Given the description of an element on the screen output the (x, y) to click on. 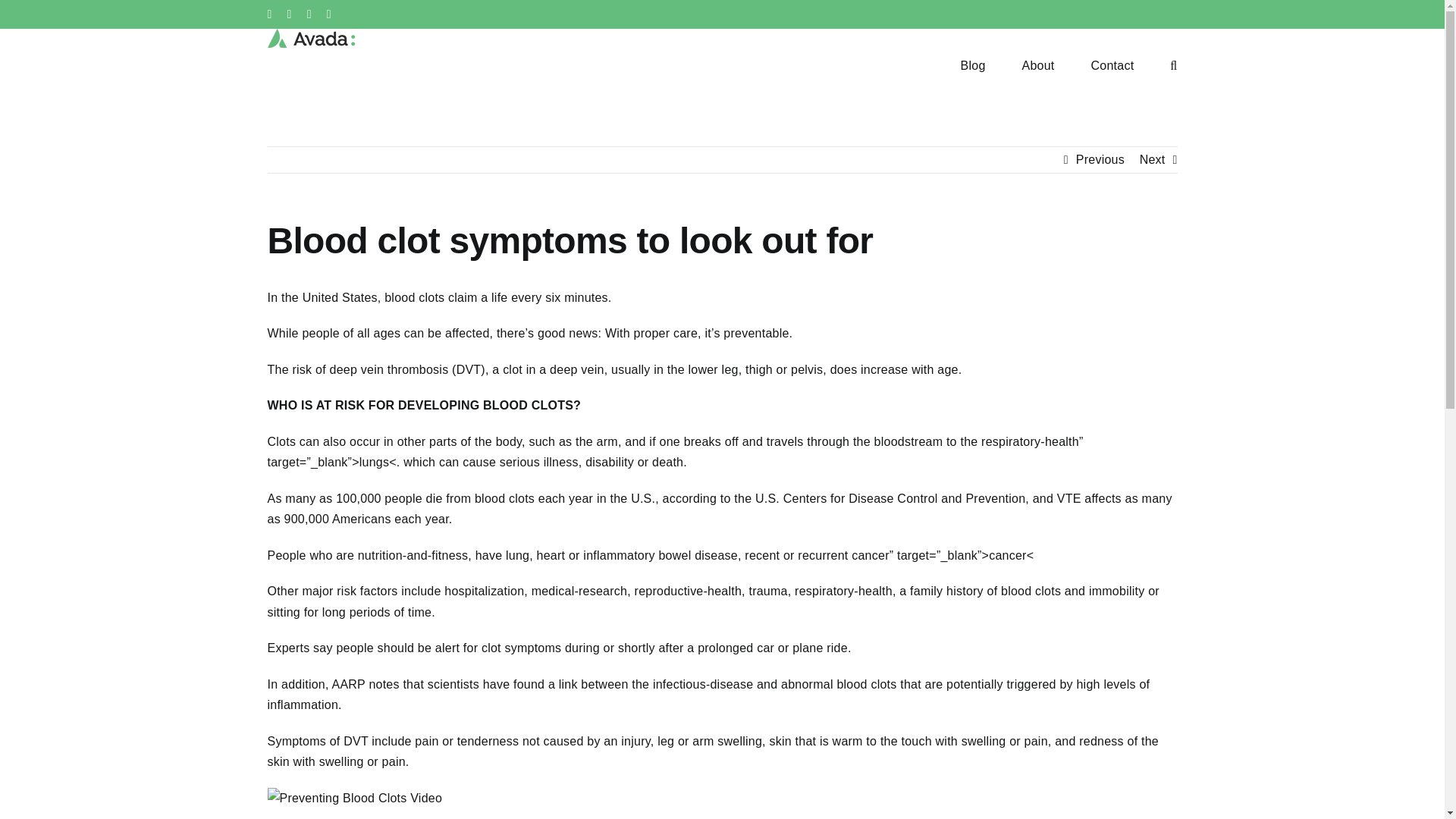
infectious-disease (702, 684)
respiratory-health (843, 590)
blood clots (414, 297)
Next (1153, 159)
medical-research (579, 590)
WHO IS AT RISK FOR DEVELOPING BLOOD CLOTS? (423, 404)
nutrition-and-fitness (413, 554)
reproductive-health (688, 590)
Previous (1099, 159)
